Given the description of an element on the screen output the (x, y) to click on. 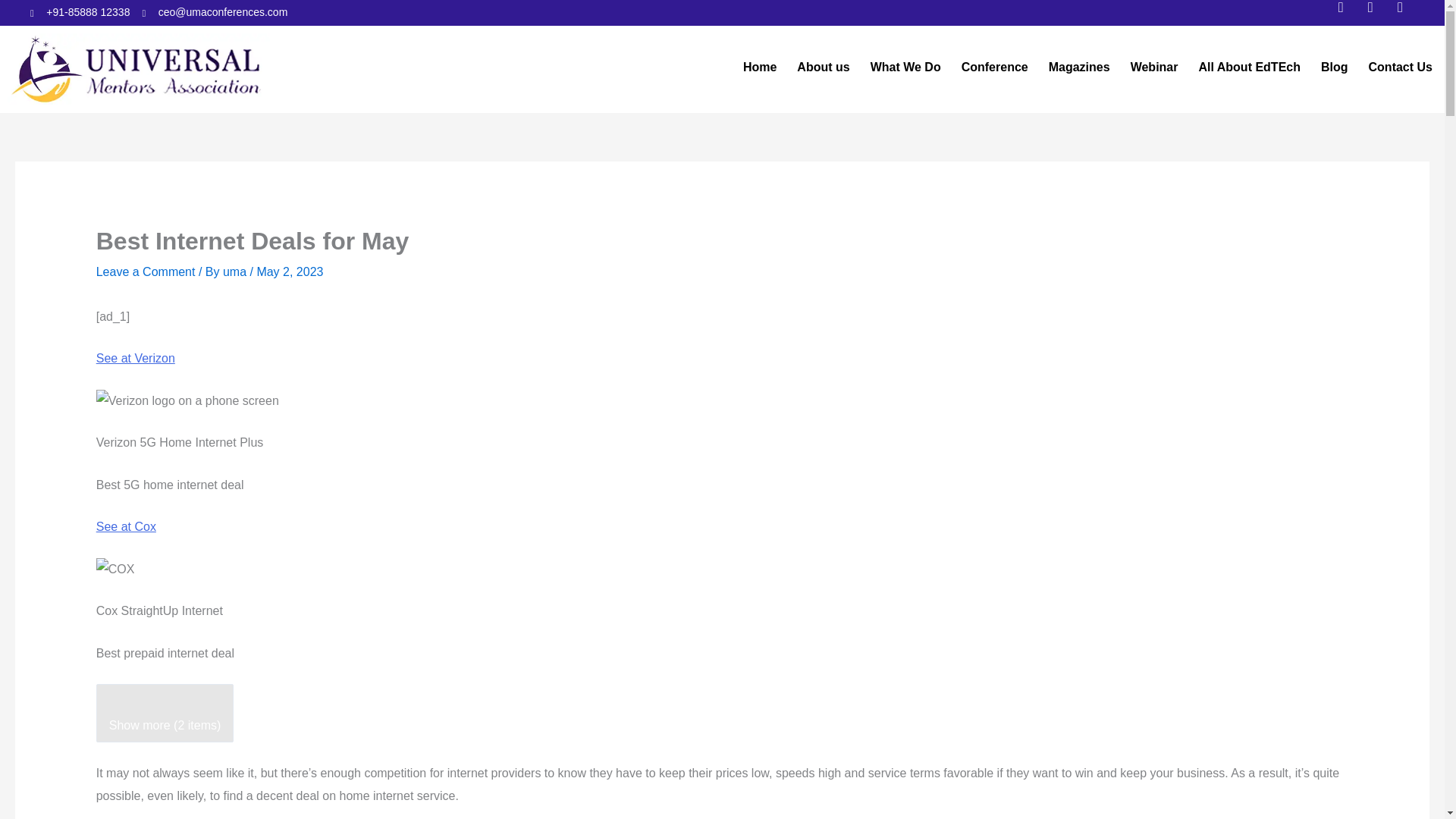
Webinar (1153, 66)
About us (822, 66)
See at Verizon (135, 358)
View all posts by uma (236, 271)
Contact Us (1400, 66)
What We Do (905, 66)
Home (759, 66)
Blog (1334, 66)
Leave a Comment (145, 271)
Magazines (1079, 66)
Conference (994, 66)
See at Cox (125, 526)
uma (236, 271)
All About EdTEch (1248, 66)
